Given the description of an element on the screen output the (x, y) to click on. 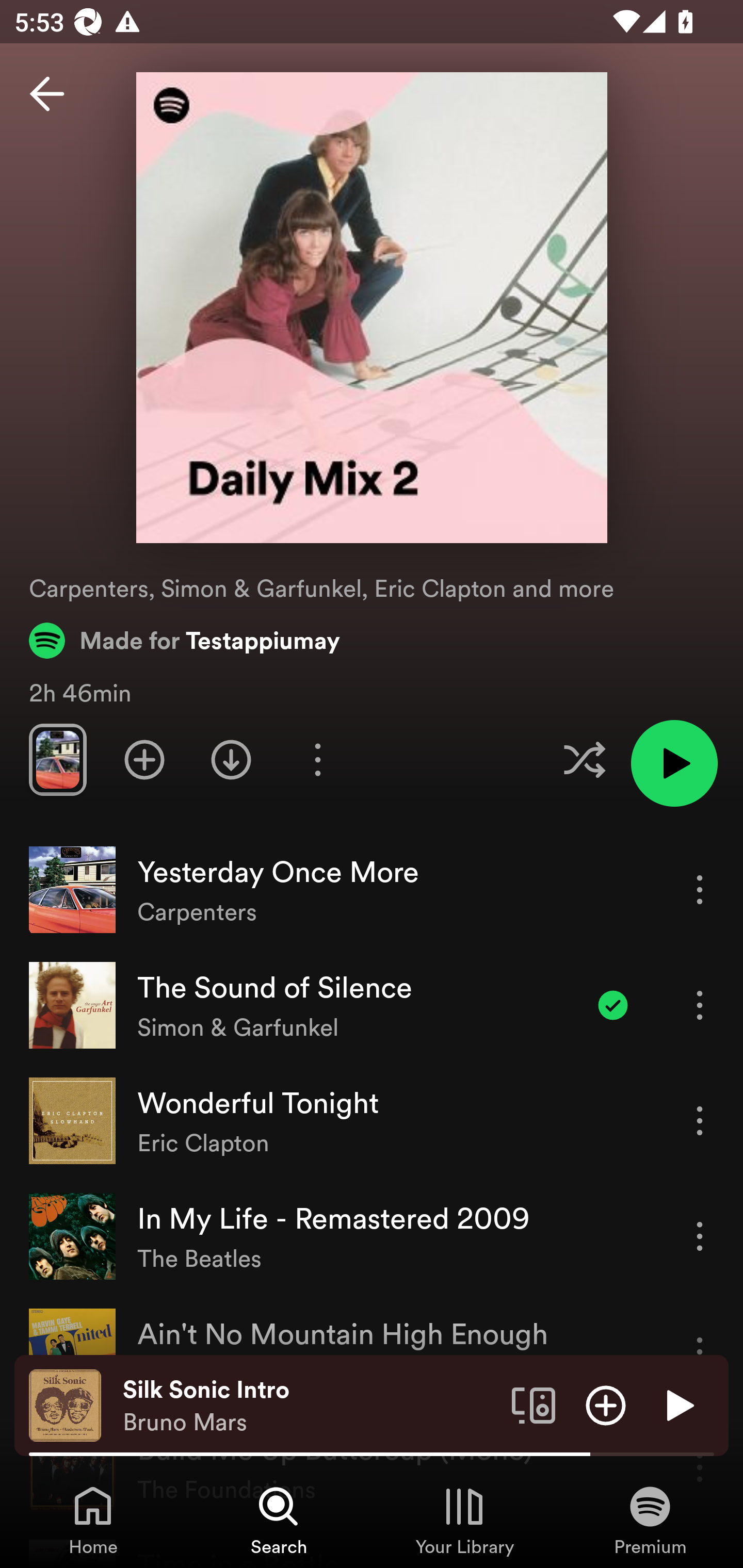
Back (46, 93)
Made for Testappiumay (184, 640)
Swipe through previews of tracks in this playlist. (57, 759)
Add playlist to Your Library (144, 759)
Download (230, 759)
More options for playlist Daily Mix 2 (317, 759)
Enable shuffle for this playlist (583, 759)
Play playlist (674, 763)
More options for song Yesterday Once More (699, 889)
Item added (612, 1004)
More options for song The Sound of Silence (699, 1004)
More options for song Wonderful Tonight (699, 1120)
More options for song In My Life - Remastered 2009 (699, 1236)
Silk Sonic Intro Bruno Mars (309, 1405)
The cover art of the currently playing track (64, 1404)
Connect to a device. Opens the devices menu (533, 1404)
Add item (605, 1404)
Play (677, 1404)
Home, Tab 1 of 4 Home Home (92, 1519)
Search, Tab 2 of 4 Search Search (278, 1519)
Your Library, Tab 3 of 4 Your Library Your Library (464, 1519)
Premium, Tab 4 of 4 Premium Premium (650, 1519)
